Given the description of an element on the screen output the (x, y) to click on. 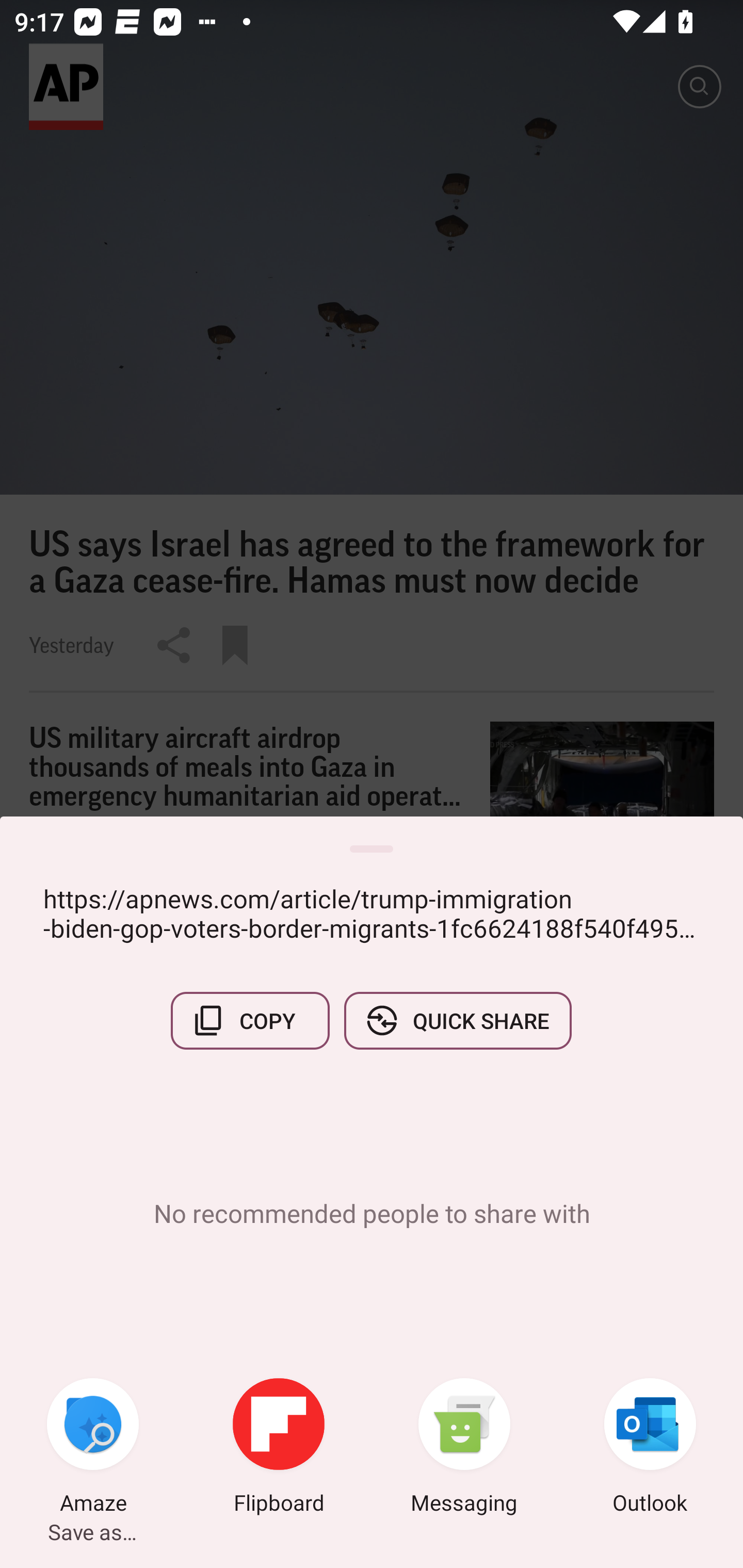
COPY (249, 1020)
QUICK SHARE (457, 1020)
Amaze Save as… (92, 1448)
Flipboard (278, 1448)
Messaging (464, 1448)
Outlook (650, 1448)
